Given the description of an element on the screen output the (x, y) to click on. 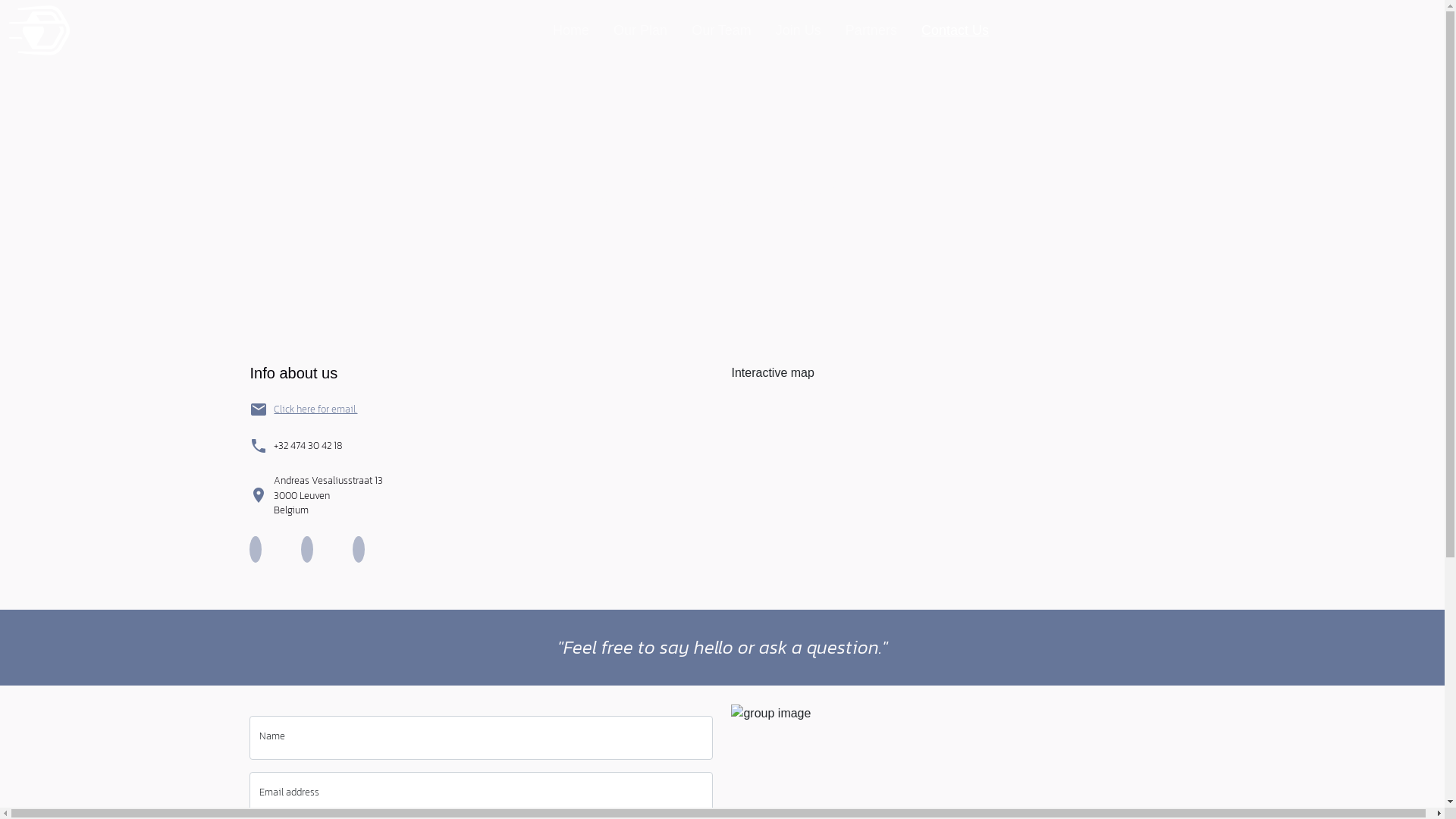
Home Element type: text (570, 29)
Join Us Element type: text (798, 29)
Our Team Element type: text (721, 29)
Partners Element type: text (871, 29)
Andreas Vesaliusstraat 13
3000 Leuven
Belgium Element type: text (327, 495)
+32 474 30 42 18 Element type: text (307, 445)
Contact Us Element type: text (954, 29)
Our Plan Element type: text (640, 29)
